Given the description of an element on the screen output the (x, y) to click on. 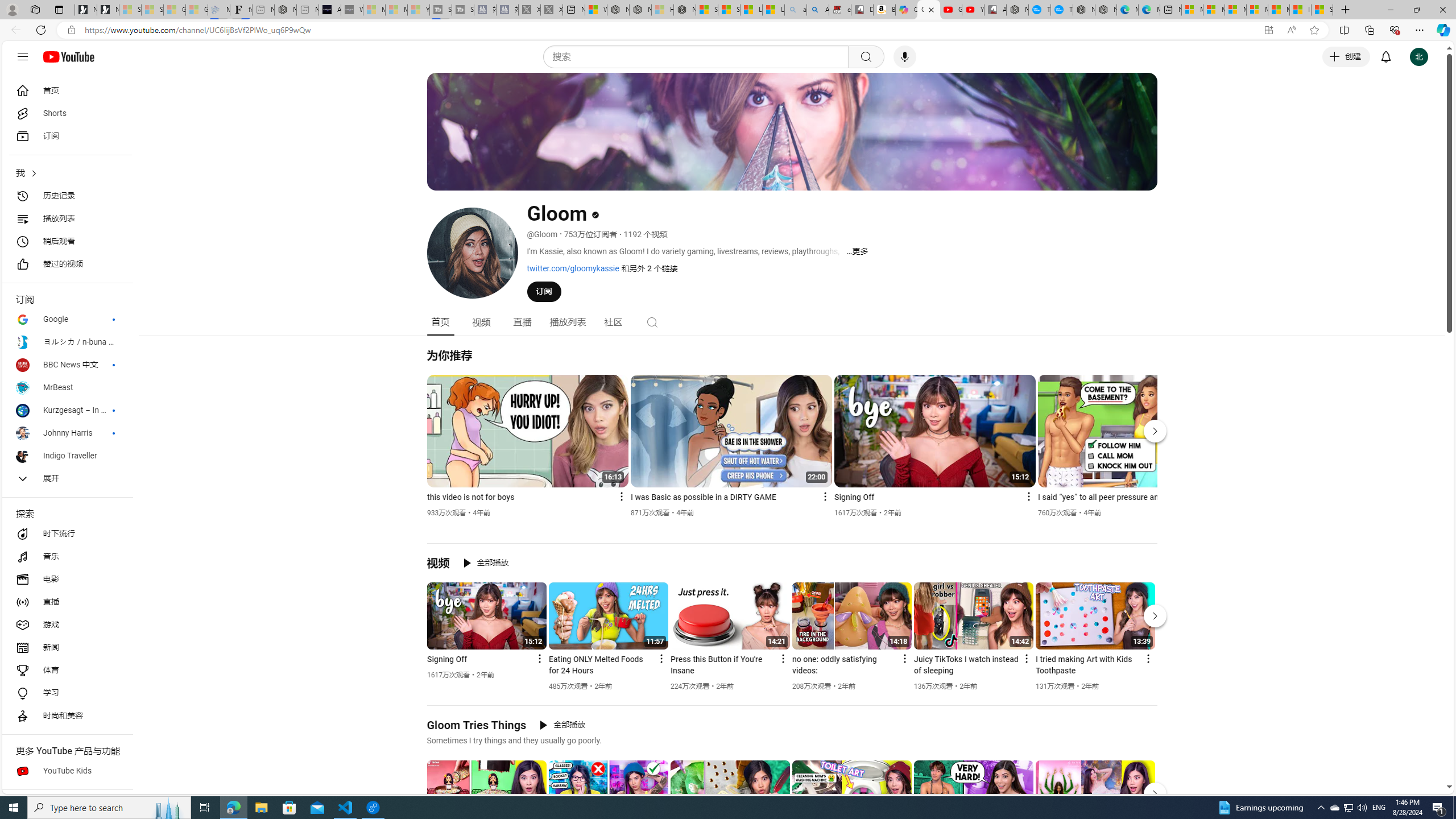
App available. Install YouTube (1268, 29)
What's the best AI voice generator? - voice.ai - Sleeping (352, 9)
YouTube Kids - An App Created for Kids to Explore Content (972, 9)
Shorts (66, 113)
